Given the description of an element on the screen output the (x, y) to click on. 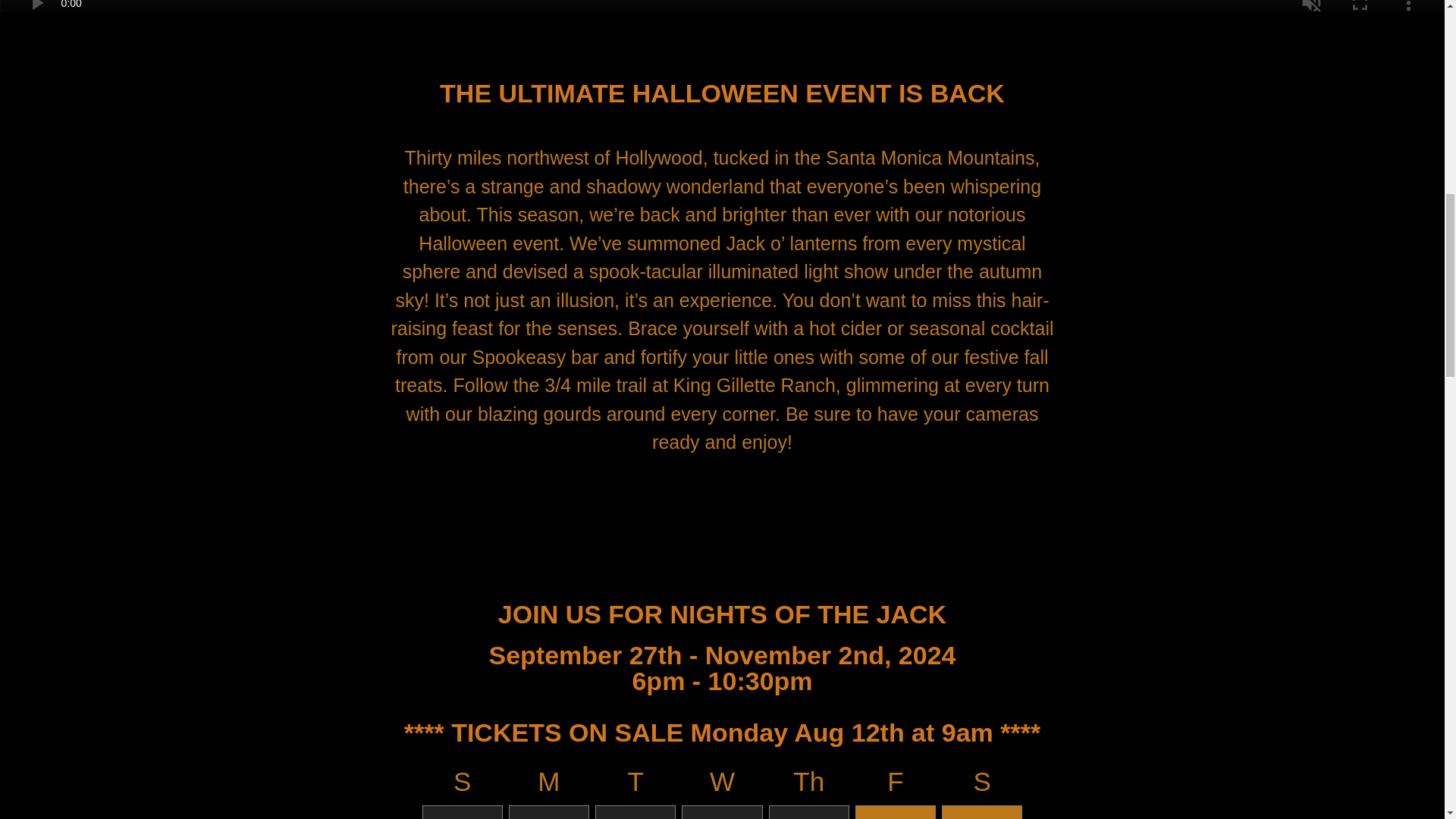
Not Open (548, 812)
Not Open (896, 812)
27 (904, 815)
Not Open (721, 812)
Not Open (462, 812)
28 (991, 815)
Not Open (982, 812)
Not Open (635, 812)
Not Open (808, 812)
